Given the description of an element on the screen output the (x, y) to click on. 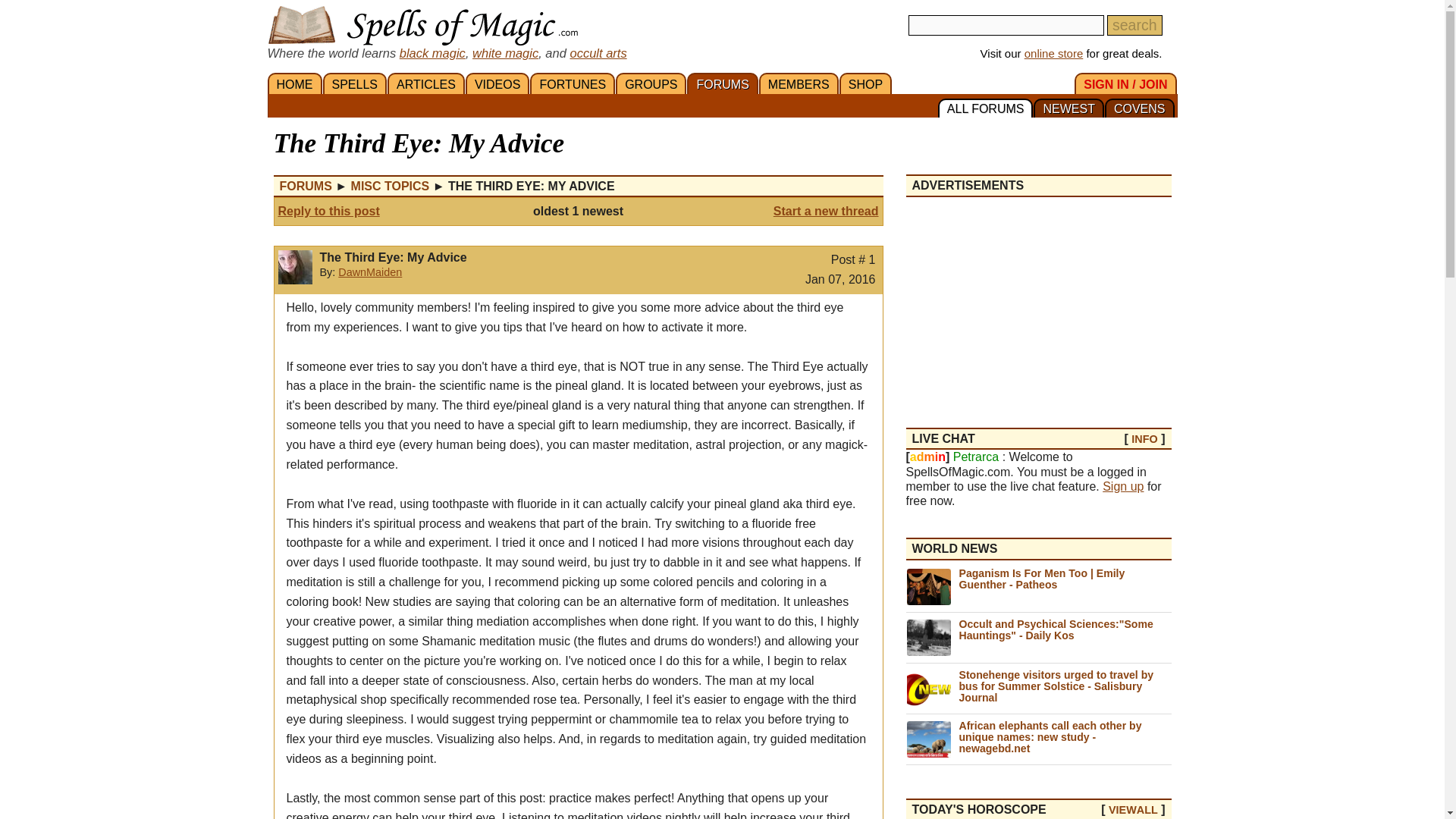
white magic (504, 52)
online store (1054, 52)
black magic (431, 52)
SPELLS (355, 83)
occult arts (597, 52)
Advertisement (1037, 303)
search (1133, 25)
HOME (293, 83)
search (1133, 25)
